Given the description of an element on the screen output the (x, y) to click on. 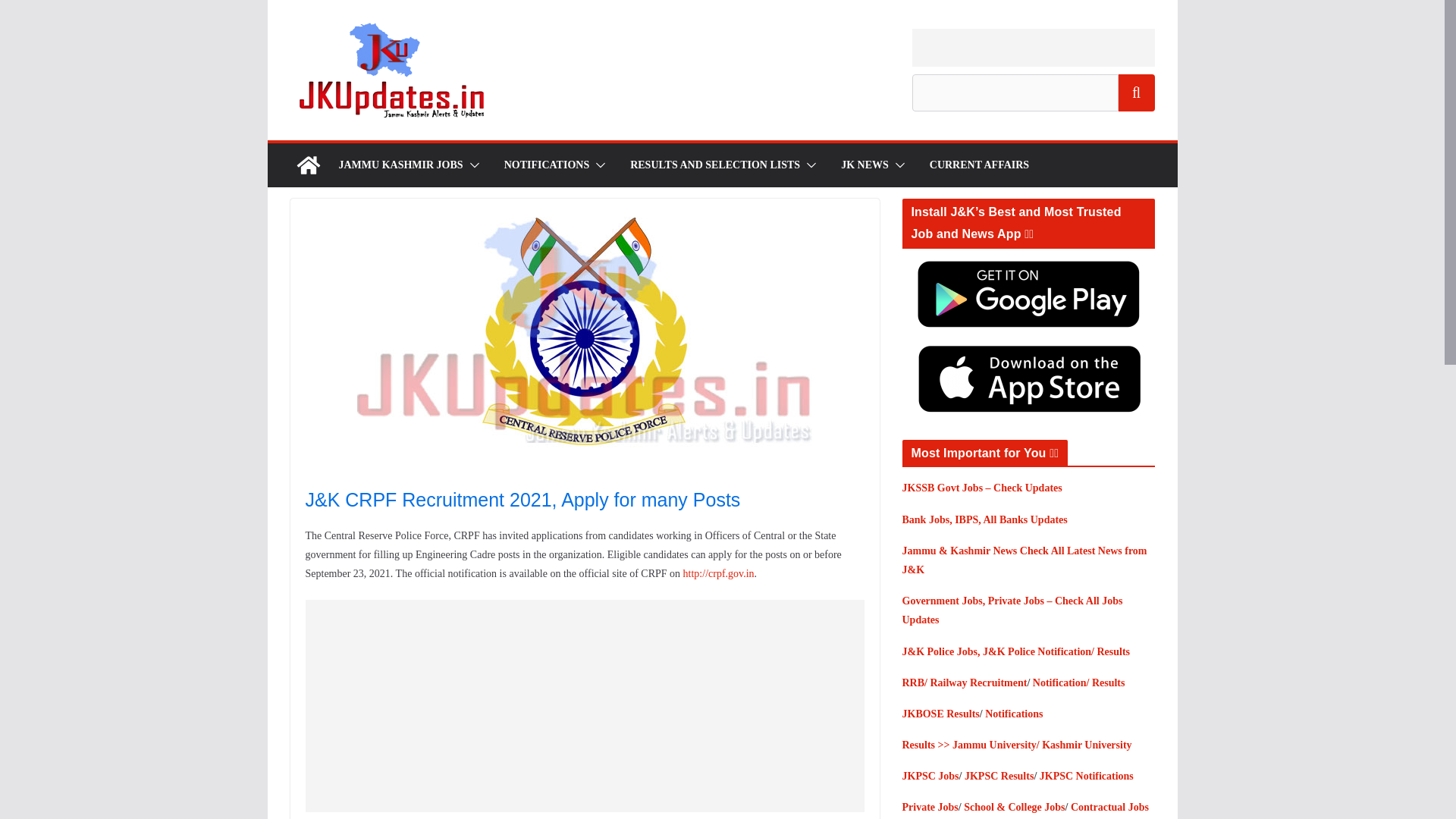
NOTIFICATIONS (546, 165)
Advertisement (595, 705)
JK NEWS (864, 165)
Advertisement (1032, 47)
RESULTS AND SELECTION LISTS (714, 165)
JAMMU KASHMIR JOBS (400, 165)
Search (1136, 92)
